Given the description of an element on the screen output the (x, y) to click on. 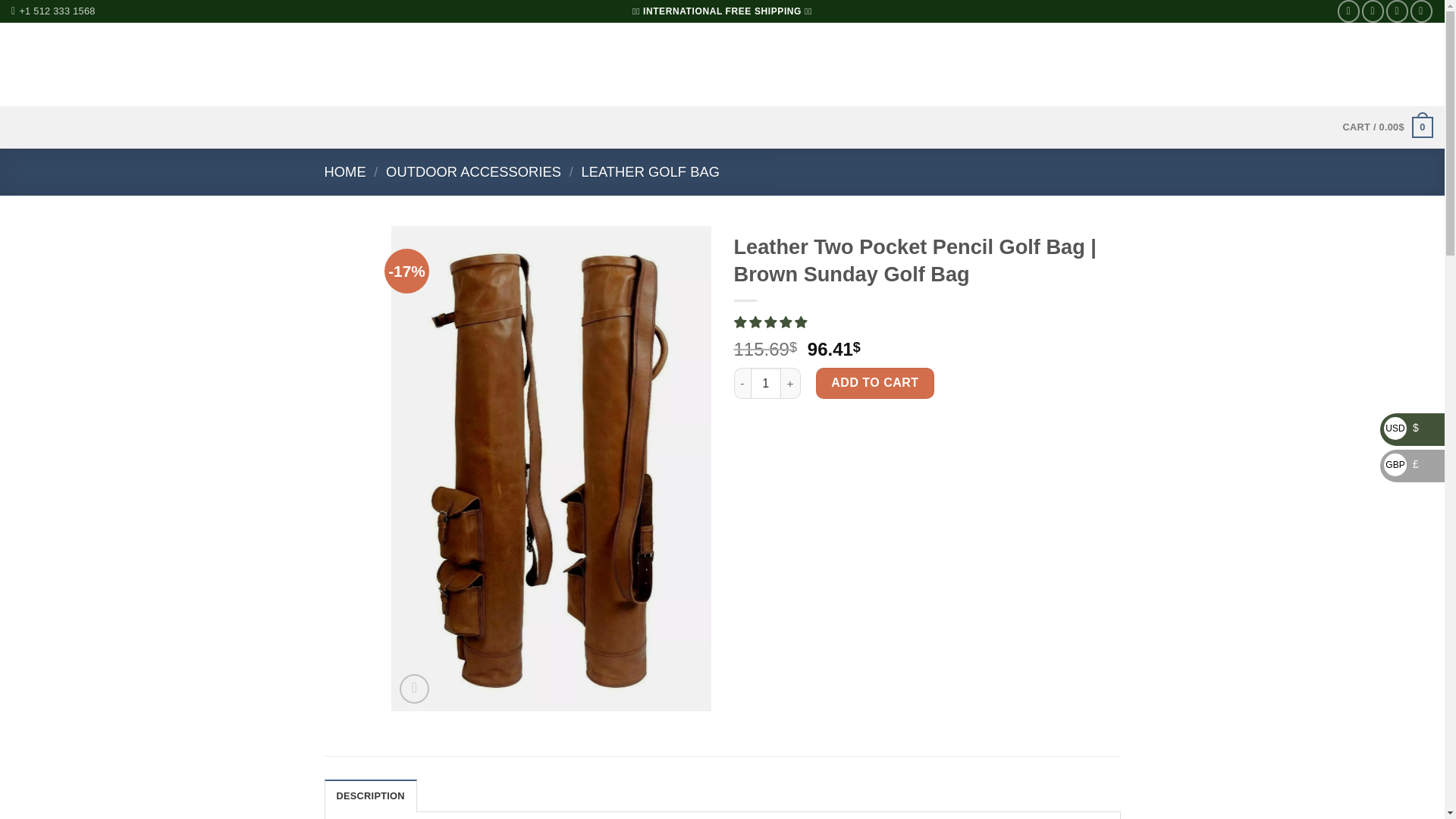
Qty (765, 382)
HOME (345, 171)
Follow on Twitter (1396, 11)
Follow on Pinterest (1421, 11)
Cart (1387, 127)
2 (870, 386)
SHOP (287, 64)
OUTDOOR ACCESSORIES (472, 171)
Follow on Facebook (1348, 11)
CONTACT (387, 64)
